Given the description of an element on the screen output the (x, y) to click on. 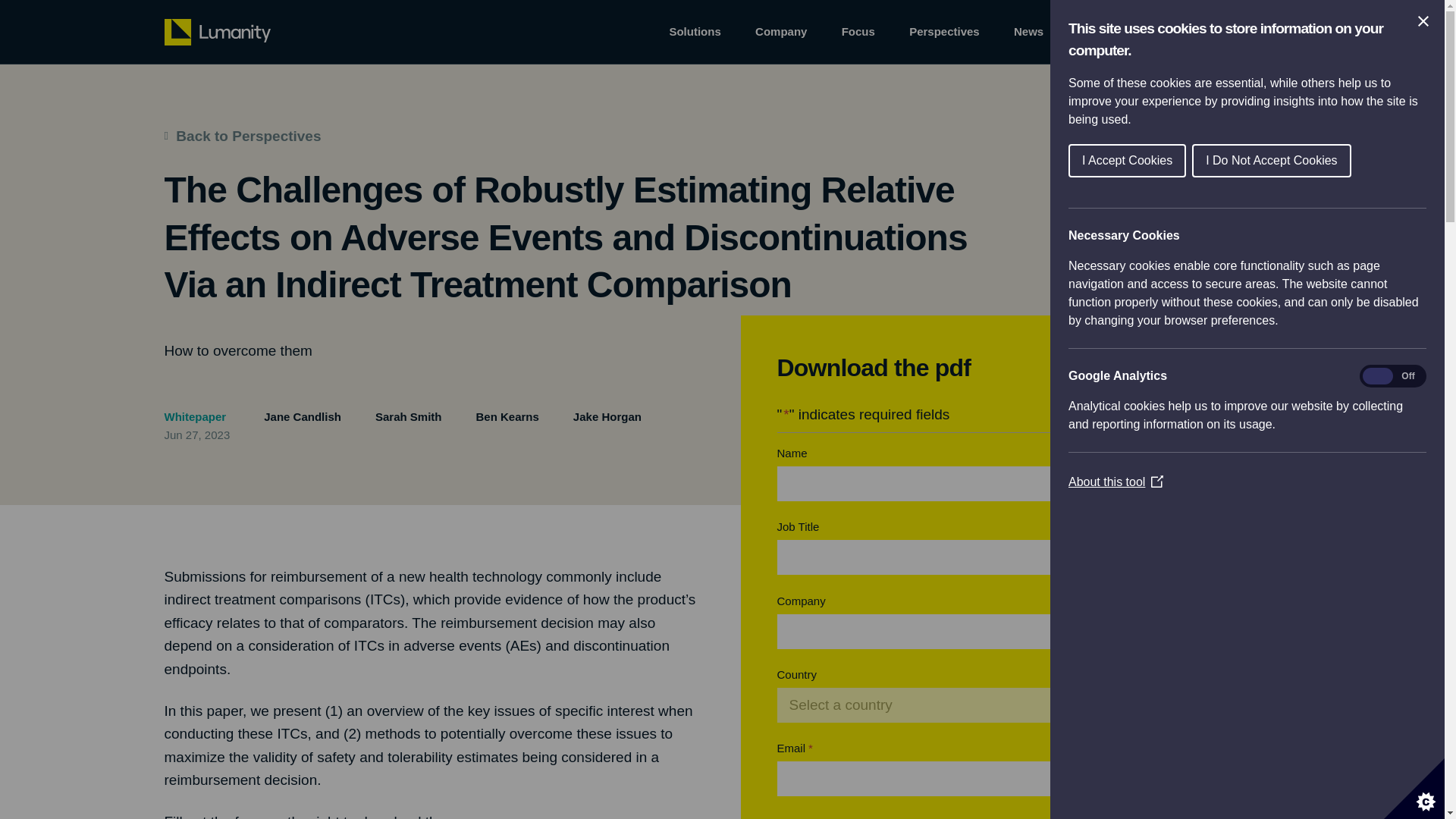
Company (780, 31)
Focus (858, 31)
Perspectives (943, 31)
News (1028, 31)
Solutions (694, 31)
